Given the description of an element on the screen output the (x, y) to click on. 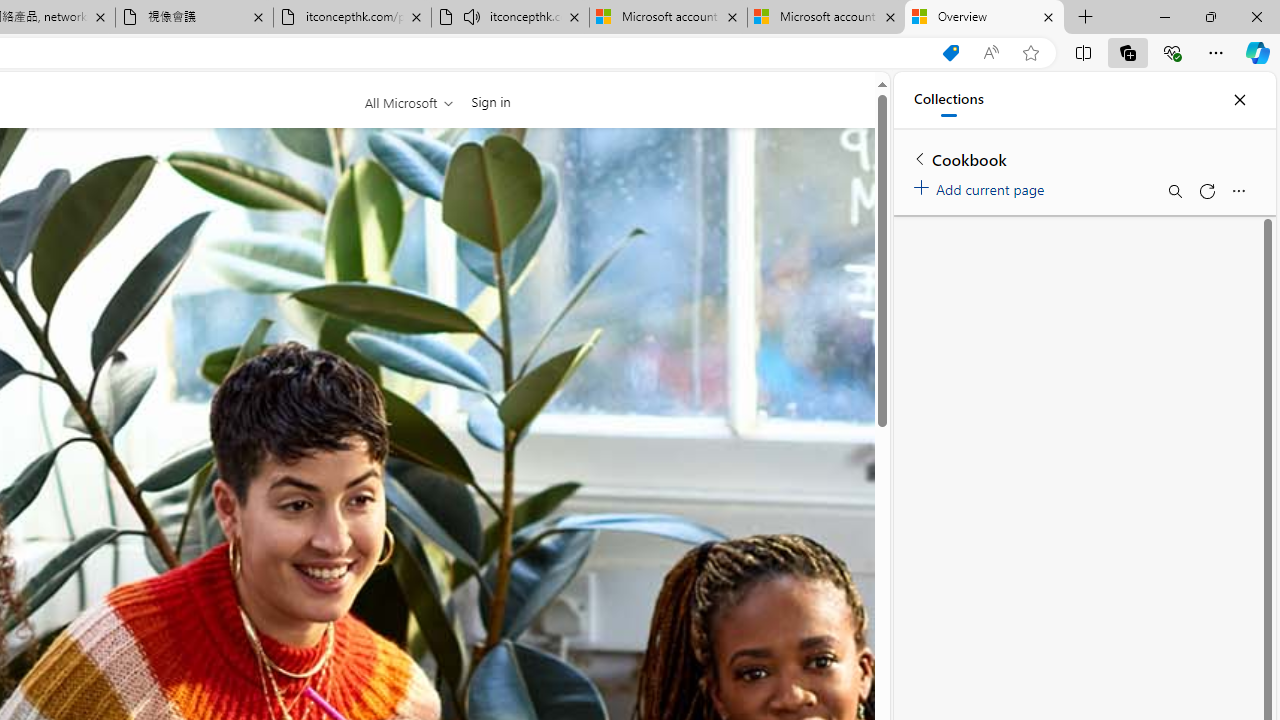
Add current page (982, 186)
Overview (984, 17)
Back to list of collections (920, 158)
Mute tab (471, 16)
